Given the description of an element on the screen output the (x, y) to click on. 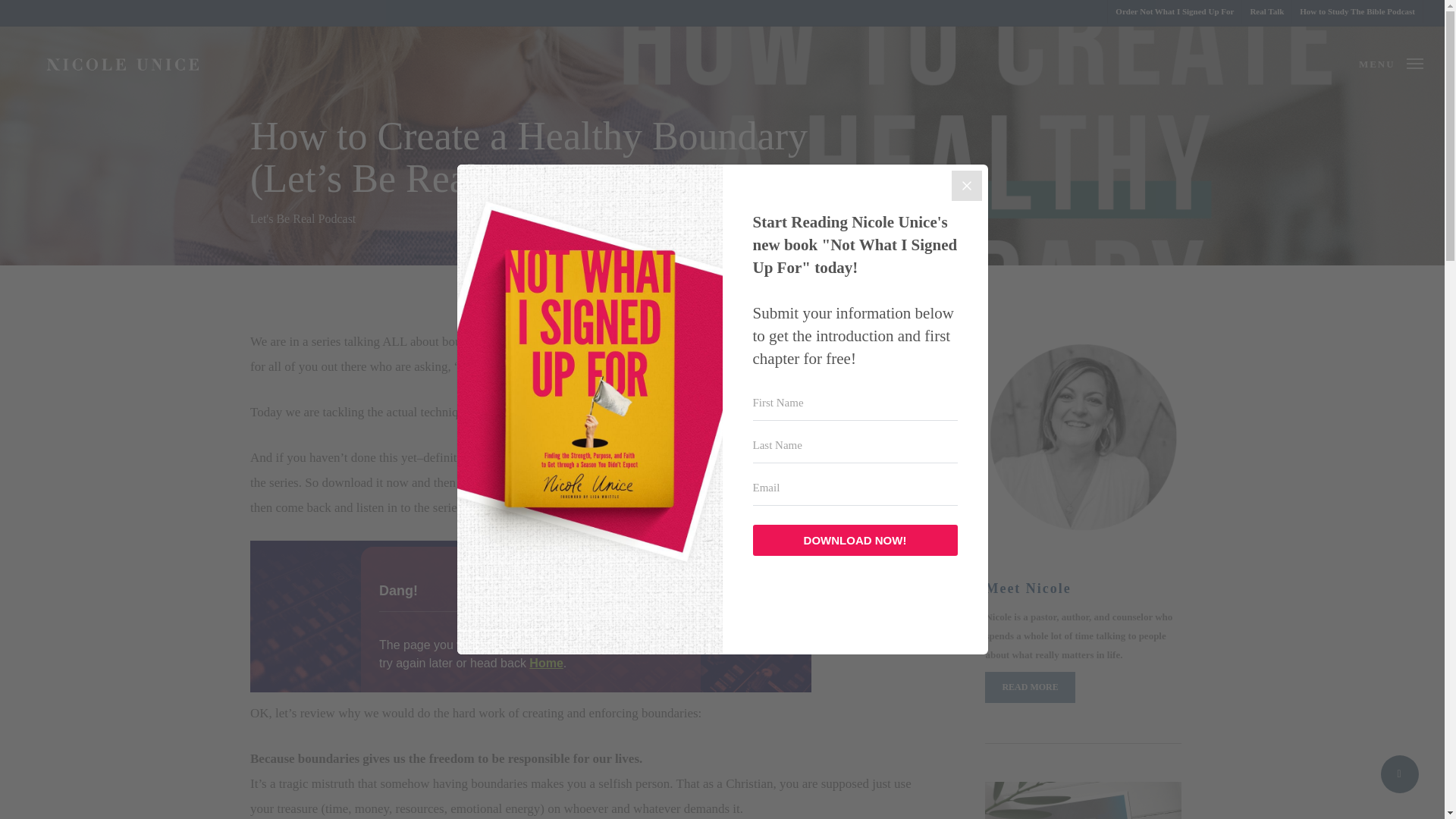
Order Not What I Signed Up For (1173, 11)
Real Talk (1266, 11)
READ MORE (1029, 686)
Let's Be Real Podcast (302, 218)
How to Study The Bible Podcast (1356, 11)
